Given the description of an element on the screen output the (x, y) to click on. 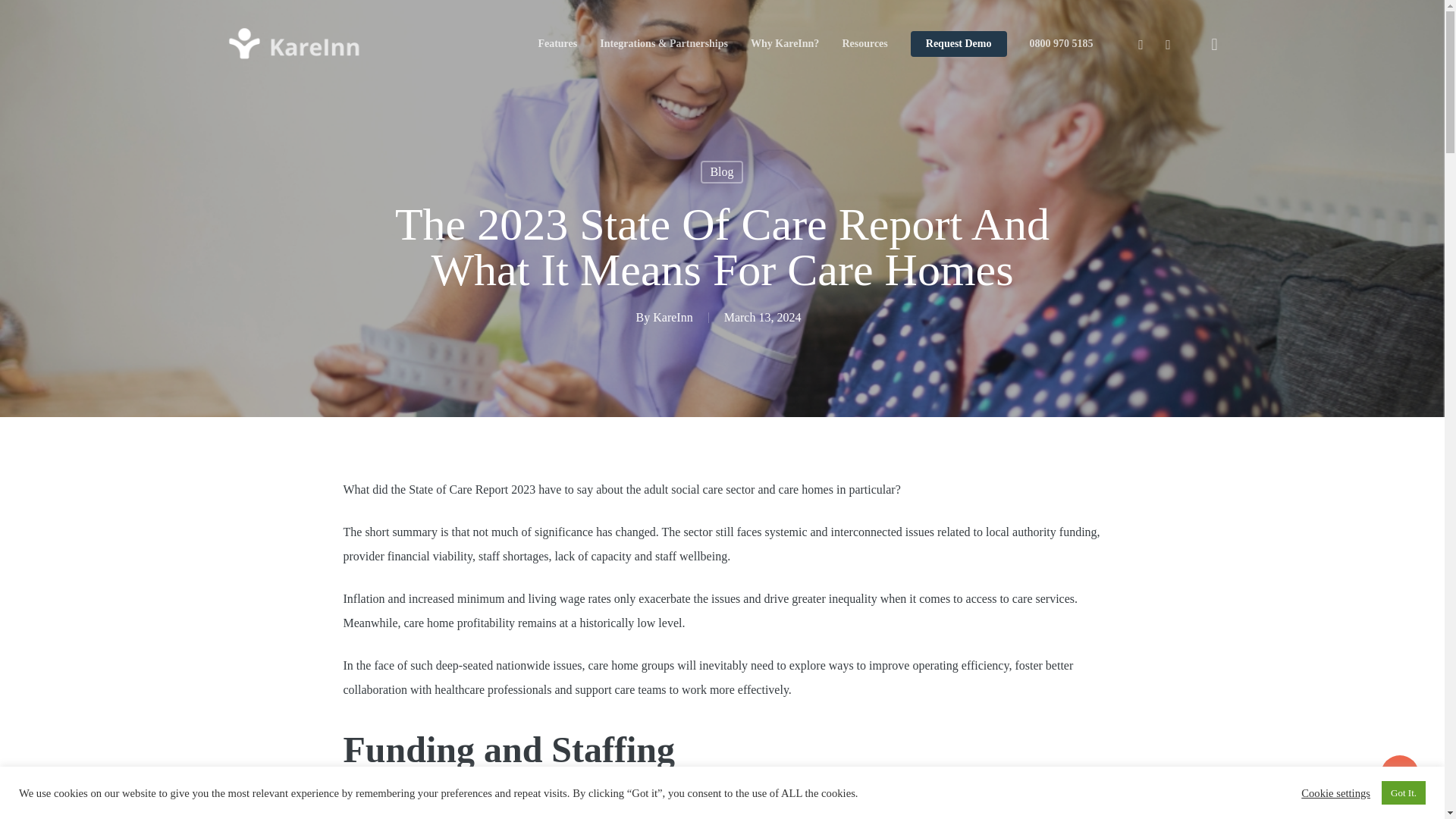
Features (556, 43)
0800 970 5185 (1060, 43)
Request Demo (959, 43)
Resources (863, 43)
Sign up (1015, 294)
Posts by KareInn (672, 317)
Why KareInn? (784, 43)
